Given the description of an element on the screen output the (x, y) to click on. 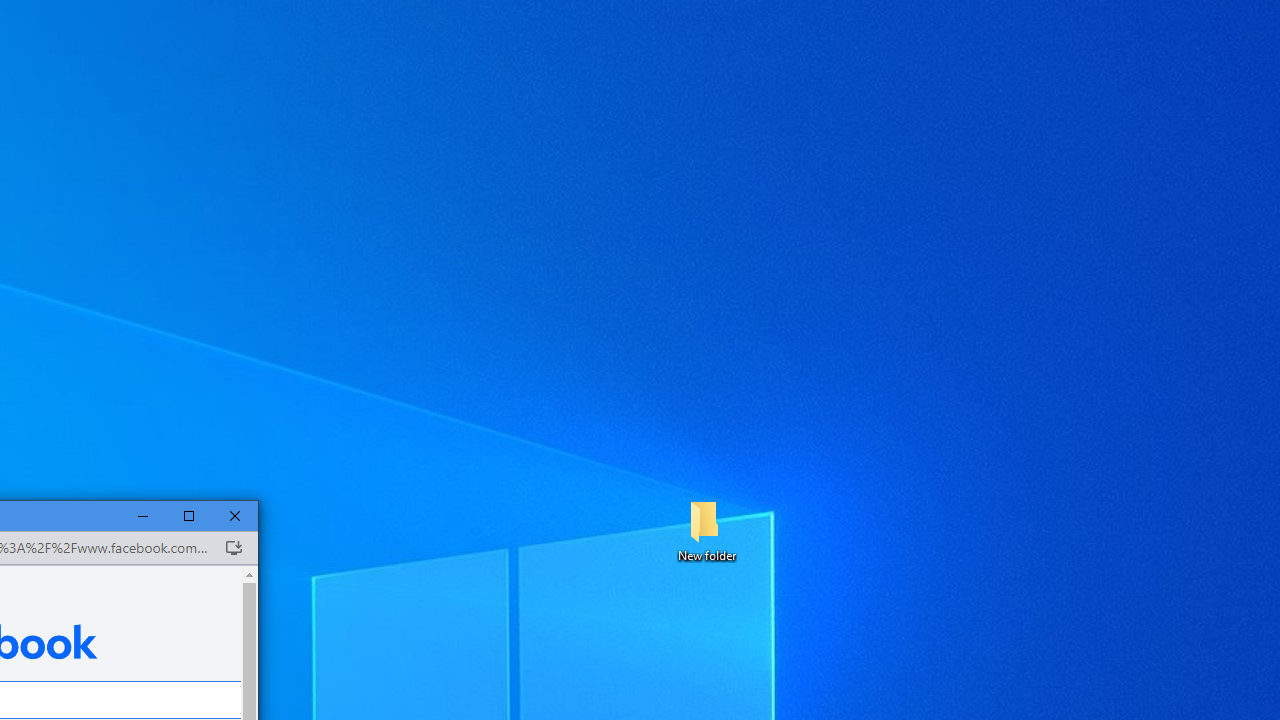
Install Facebook (233, 547)
Maximize (189, 516)
